Given the description of an element on the screen output the (x, y) to click on. 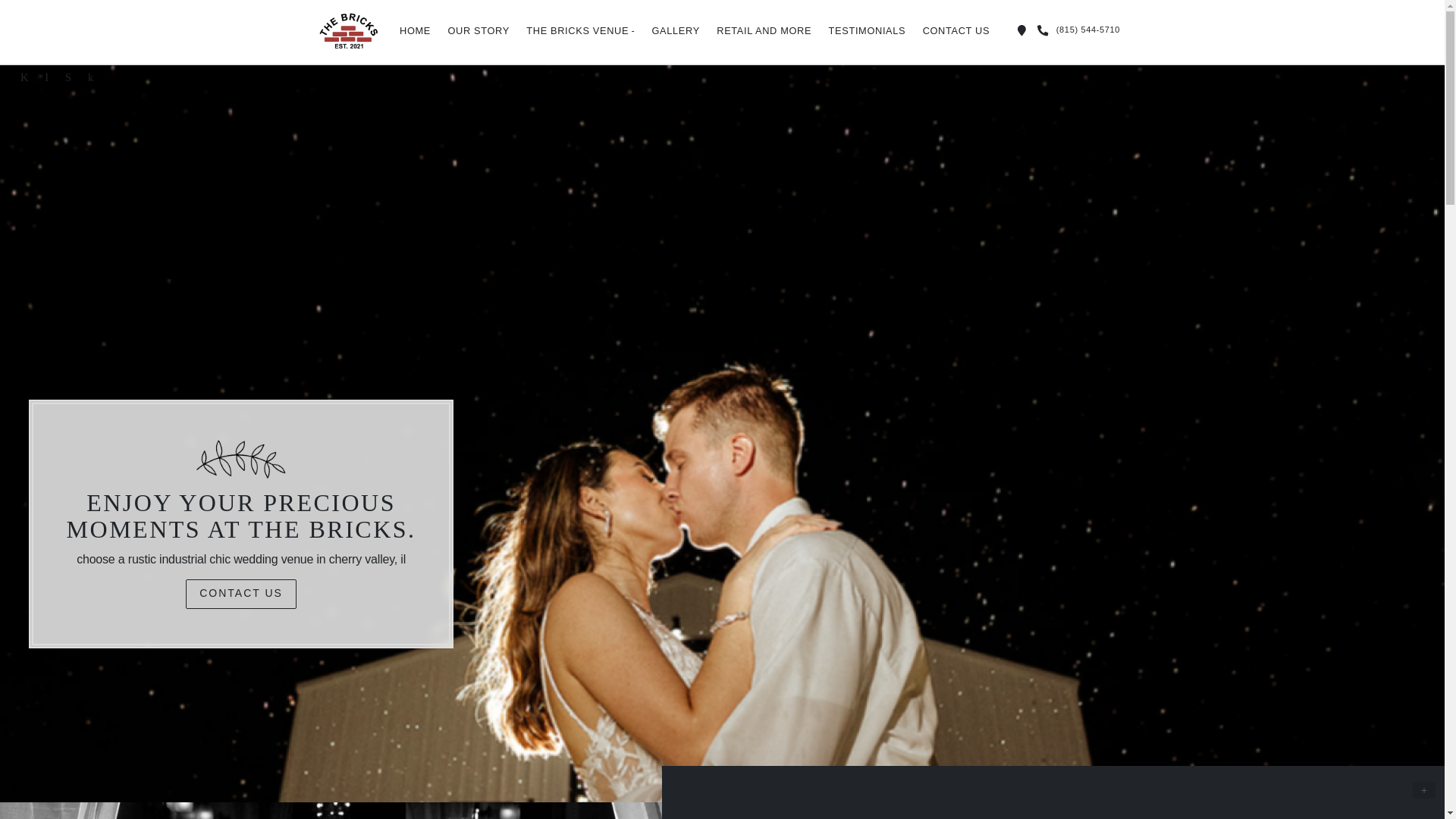
Facebook (23, 76)
2 (730, 784)
TESTIMONIALS (866, 30)
Instagram (46, 76)
Pinterest (68, 76)
OUR STORY (478, 30)
GALLERY (675, 30)
CONTACT US (955, 30)
RETAIL AND MORE (763, 30)
HOME (415, 30)
Tiktok (90, 76)
1 (713, 784)
THE BRICKS VENUE (580, 31)
